Given the description of an element on the screen output the (x, y) to click on. 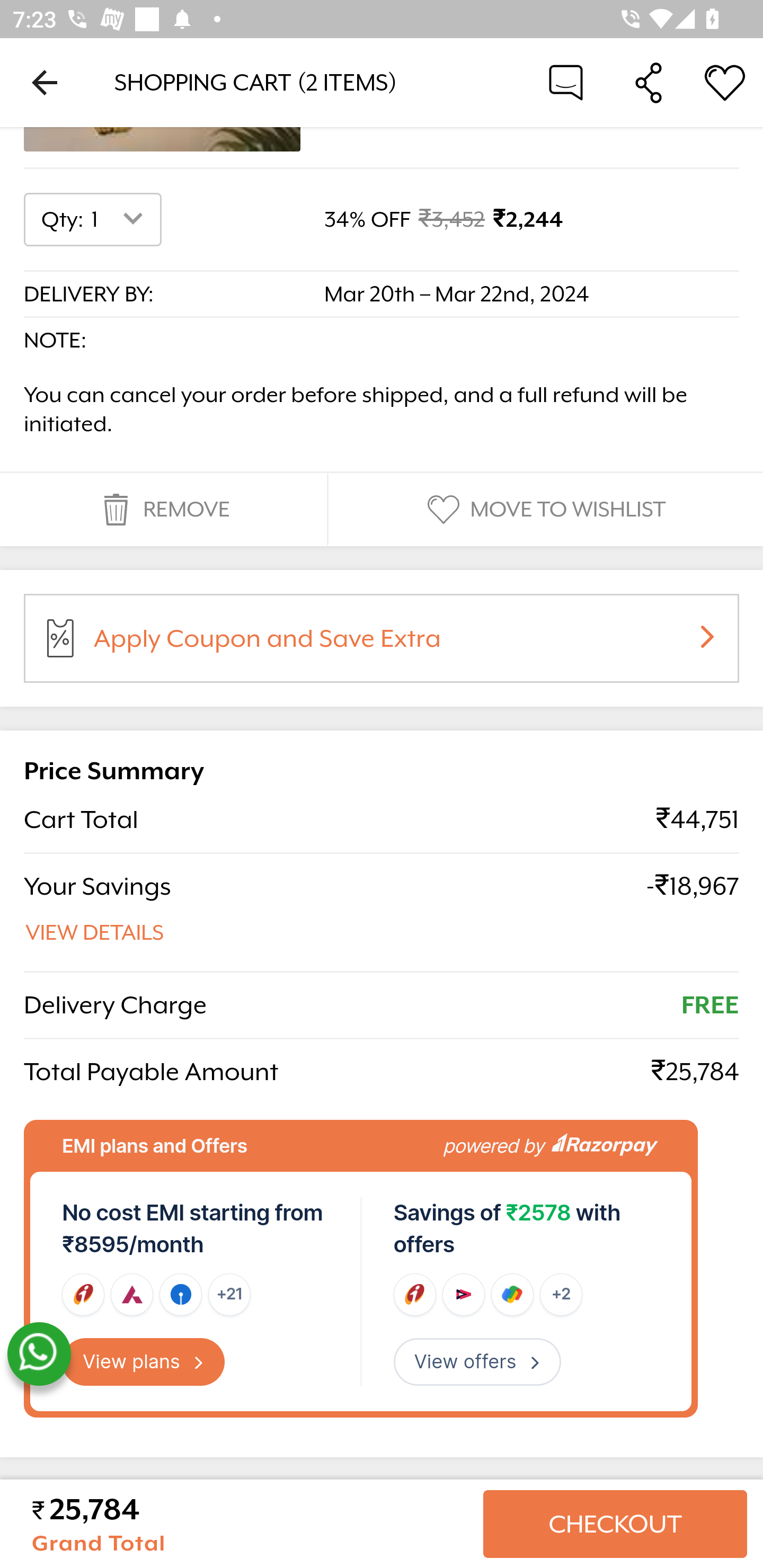
Navigate up (44, 82)
Chat (565, 81)
Share Cart (648, 81)
Wishlist (724, 81)
1 (121, 220)
REMOVE (163, 509)
MOVE TO WISHLIST (544, 509)
Apply Coupon and Save Extra (402, 644)
VIEW DETAILS (95, 933)
whatsapp (38, 1354)
View plans (143, 1362)
View offers (476, 1362)
₹ 25,784 Grand Total (250, 1523)
CHECKOUT (614, 1523)
